Given the description of an element on the screen output the (x, y) to click on. 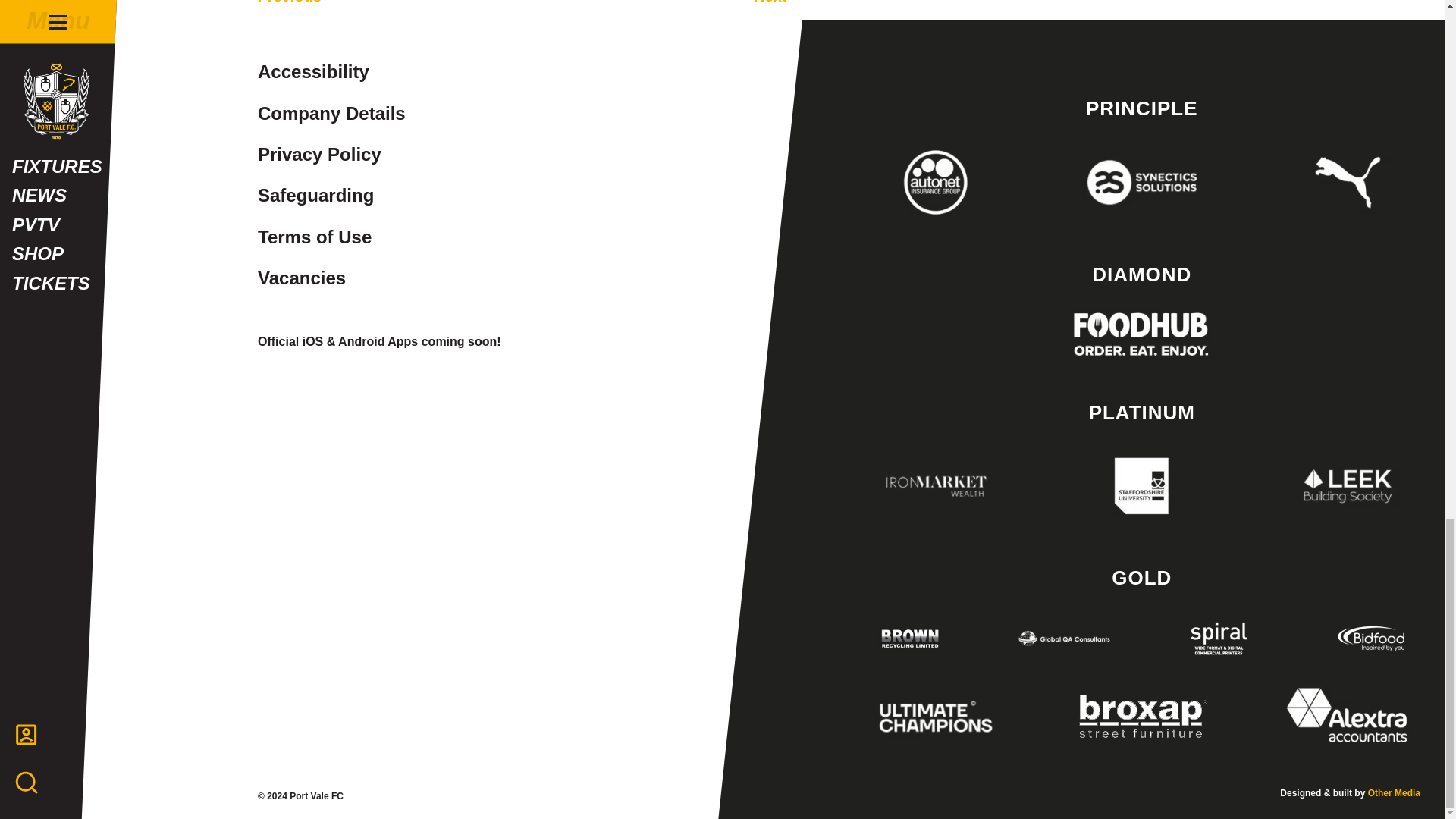
Synectics (1141, 181)
Autonet (936, 181)
Ironmarket (936, 485)
Staffordshire Uni (1141, 485)
Puma (1348, 181)
Foodhub (1141, 334)
